Given the description of an element on the screen output the (x, y) to click on. 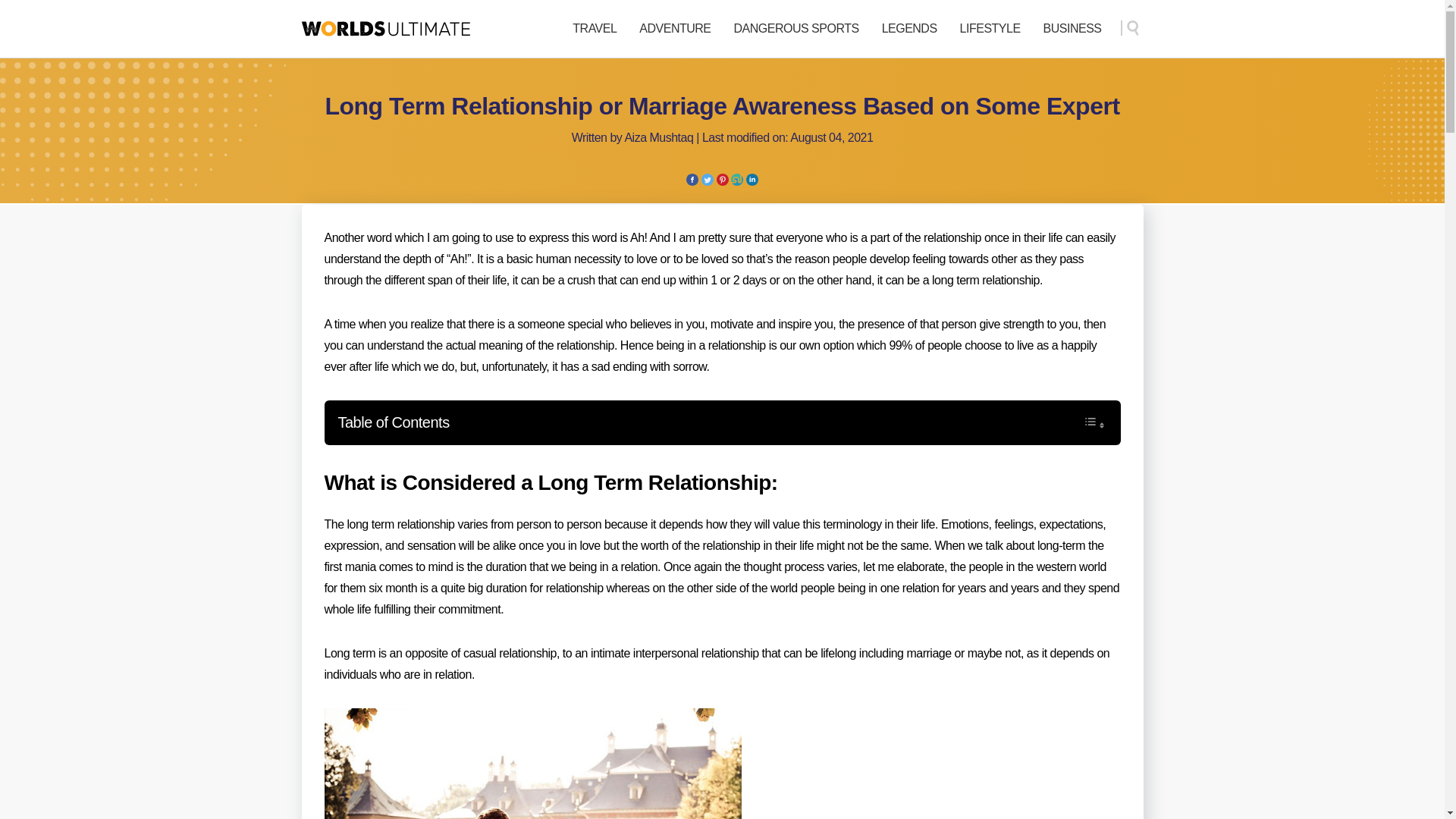
0 shares (736, 181)
LEGENDS (909, 28)
TRAVEL (593, 28)
5 shares (722, 181)
BUSINESS (1072, 28)
0 shares (707, 181)
Most Dangerous Sports (796, 28)
Posts by Aiza Mushtaq (658, 137)
Worlds Ultimate (385, 28)
ADVENTURE (674, 28)
DANGEROUS SPORTS (796, 28)
LIFESTYLE (989, 28)
Aiza Mushtaq (658, 137)
0 shares (691, 181)
0 shares (751, 181)
